Given the description of an element on the screen output the (x, y) to click on. 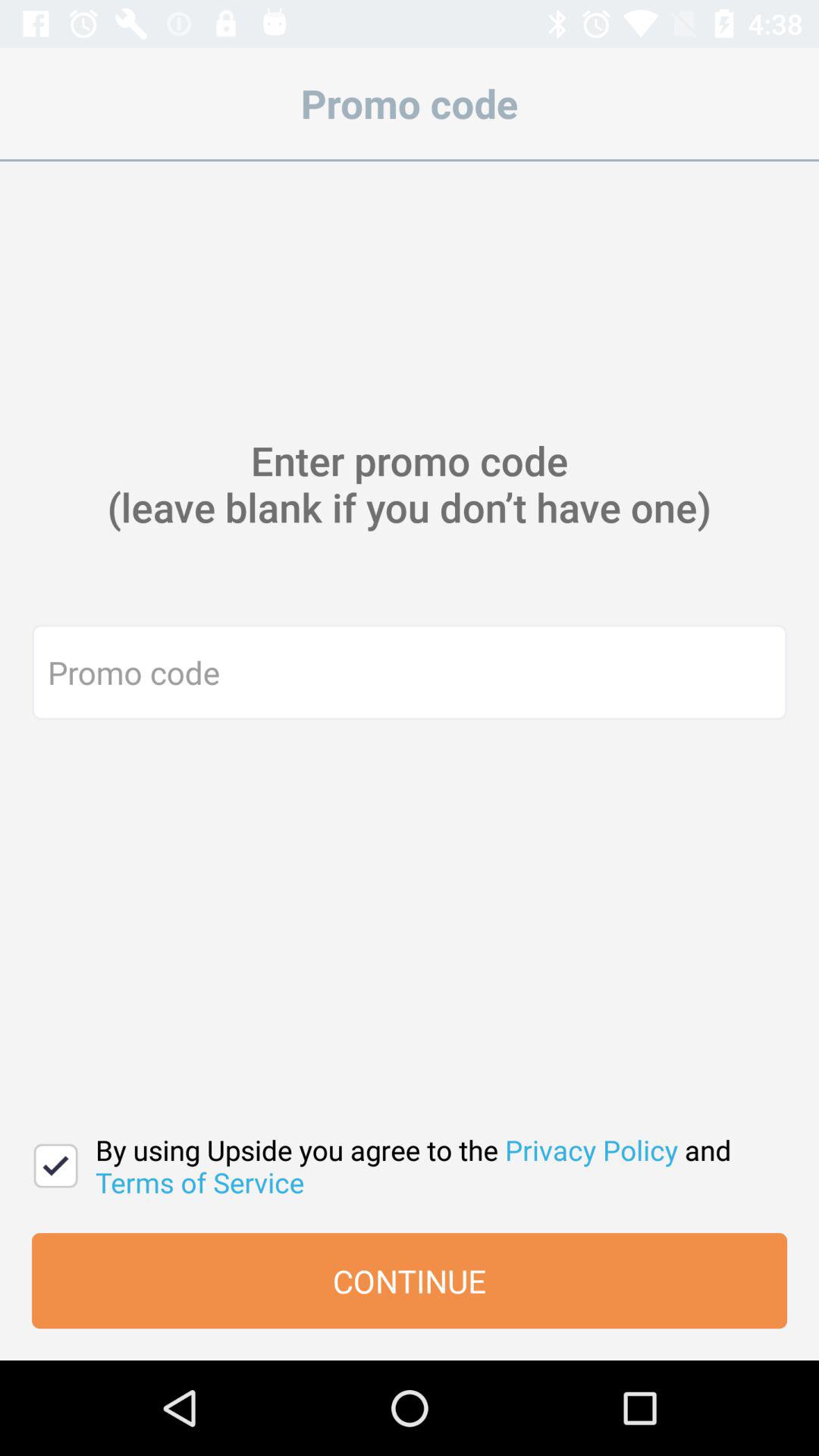
tap by using upside (433, 1166)
